Given the description of an element on the screen output the (x, y) to click on. 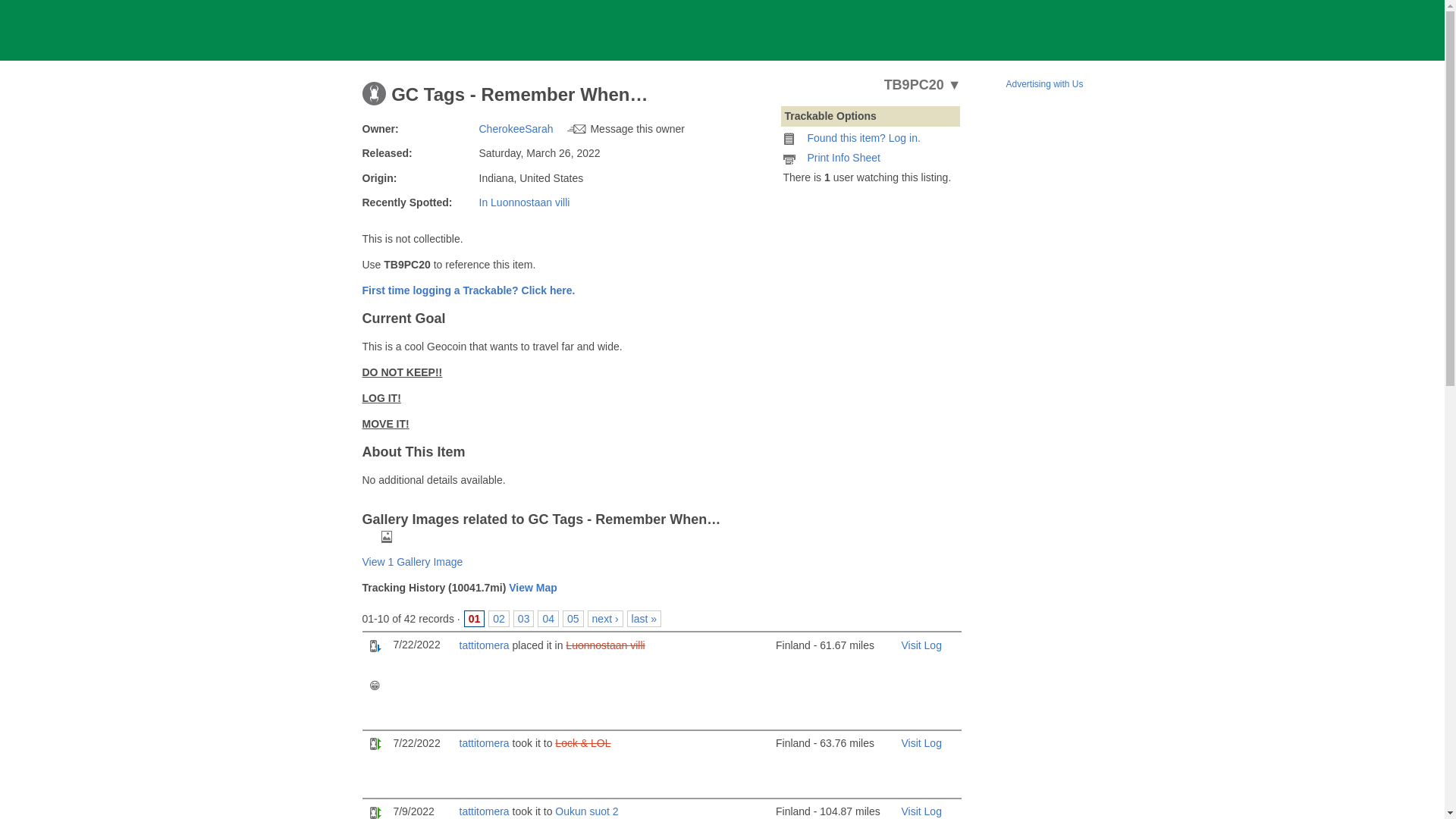
First time logging a Trackable? (468, 290)
View Gallery Images (412, 562)
Visit Log (920, 811)
First time logging a Trackable? Click here. (468, 290)
02 (498, 618)
tattitomera (484, 743)
Luonnostaan villi (605, 645)
tattitomera (484, 811)
View Map (532, 587)
Found this item? Log in. (863, 137)
CherokeeSarah (516, 128)
View Map (532, 587)
Visit Listing (524, 202)
05 (572, 618)
Visit Log (920, 743)
